Given the description of an element on the screen output the (x, y) to click on. 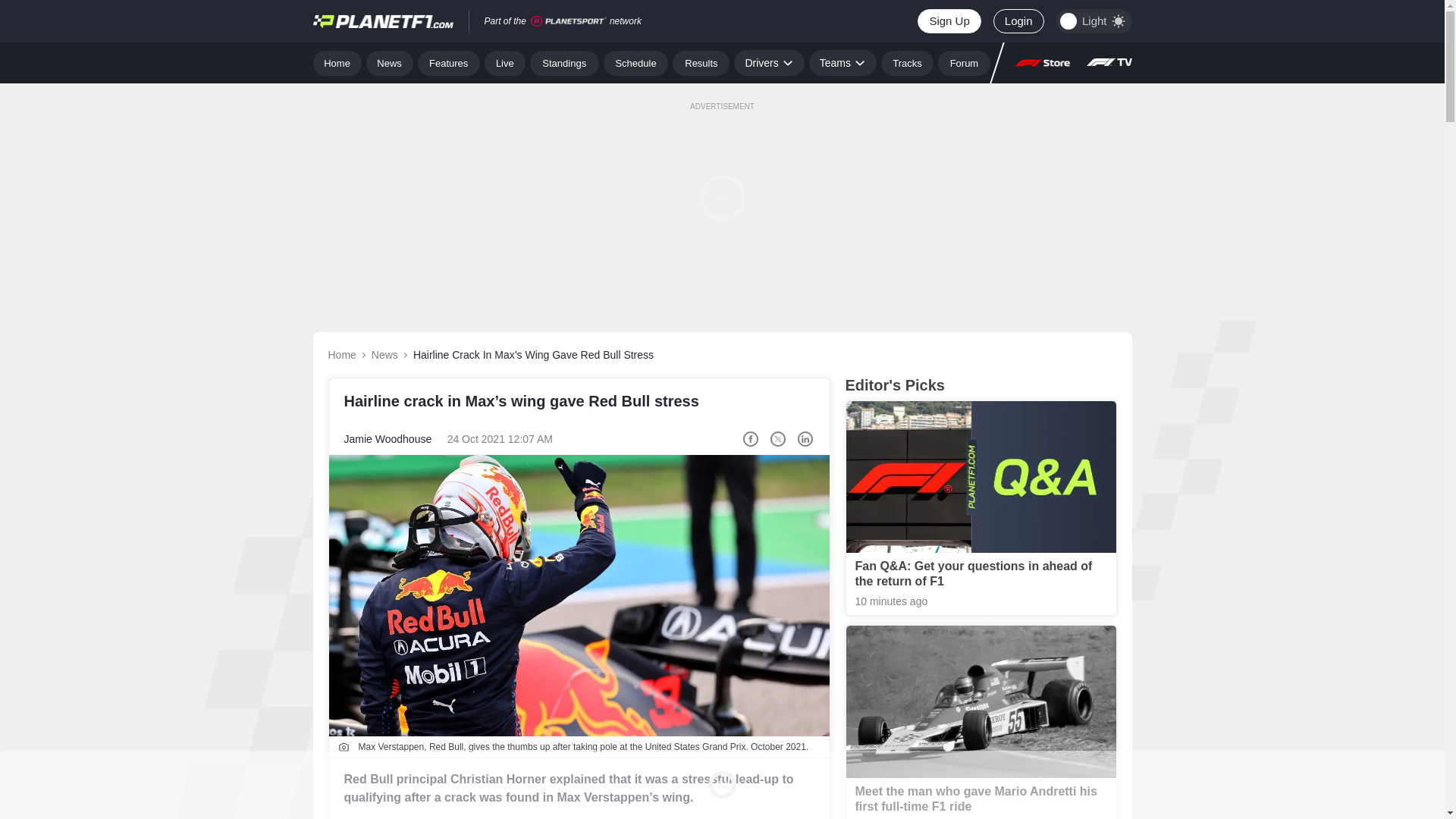
Standings (563, 62)
Results (700, 62)
Drivers (768, 62)
Schedule (636, 62)
Teams (842, 62)
Login (1017, 21)
Live (504, 62)
Features (448, 62)
News (389, 62)
Sign Up (948, 21)
